Given the description of an element on the screen output the (x, y) to click on. 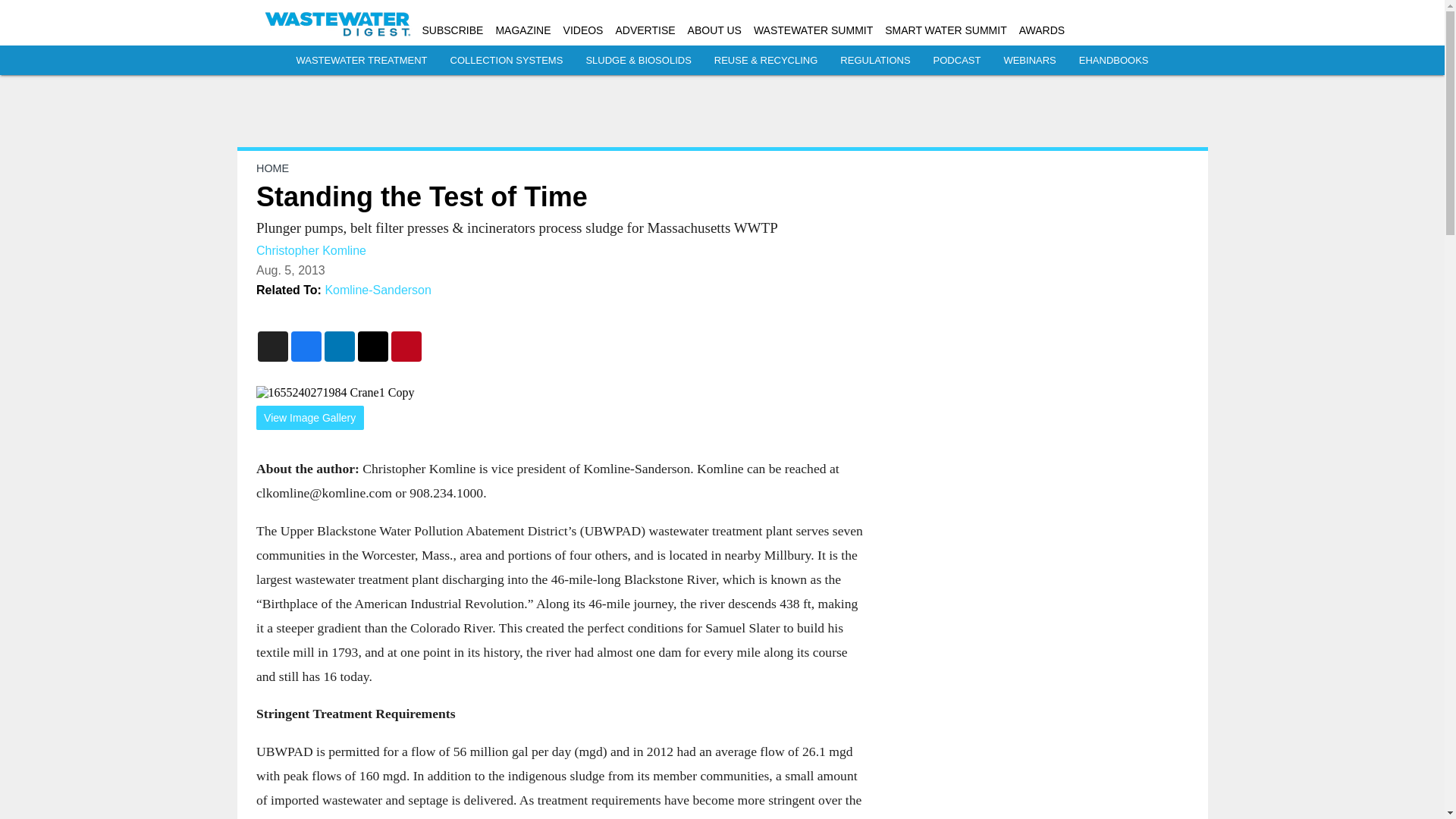
ABOUT US (714, 30)
Christopher Komline (311, 250)
ADVERTISE (644, 30)
Komline-Sanderson (377, 289)
REGULATIONS (875, 60)
COLLECTION SYSTEMS (506, 60)
AWARDS (1041, 30)
1655240271984 Crane1 Copy (560, 392)
View Image Gallery (310, 417)
MAGAZINE (522, 30)
VIDEOS (583, 30)
HOME (272, 168)
WASTEWATER SUMMIT (813, 30)
EHANDBOOKS (1113, 60)
WASTEWATER TREATMENT (360, 60)
